Given the description of an element on the screen output the (x, y) to click on. 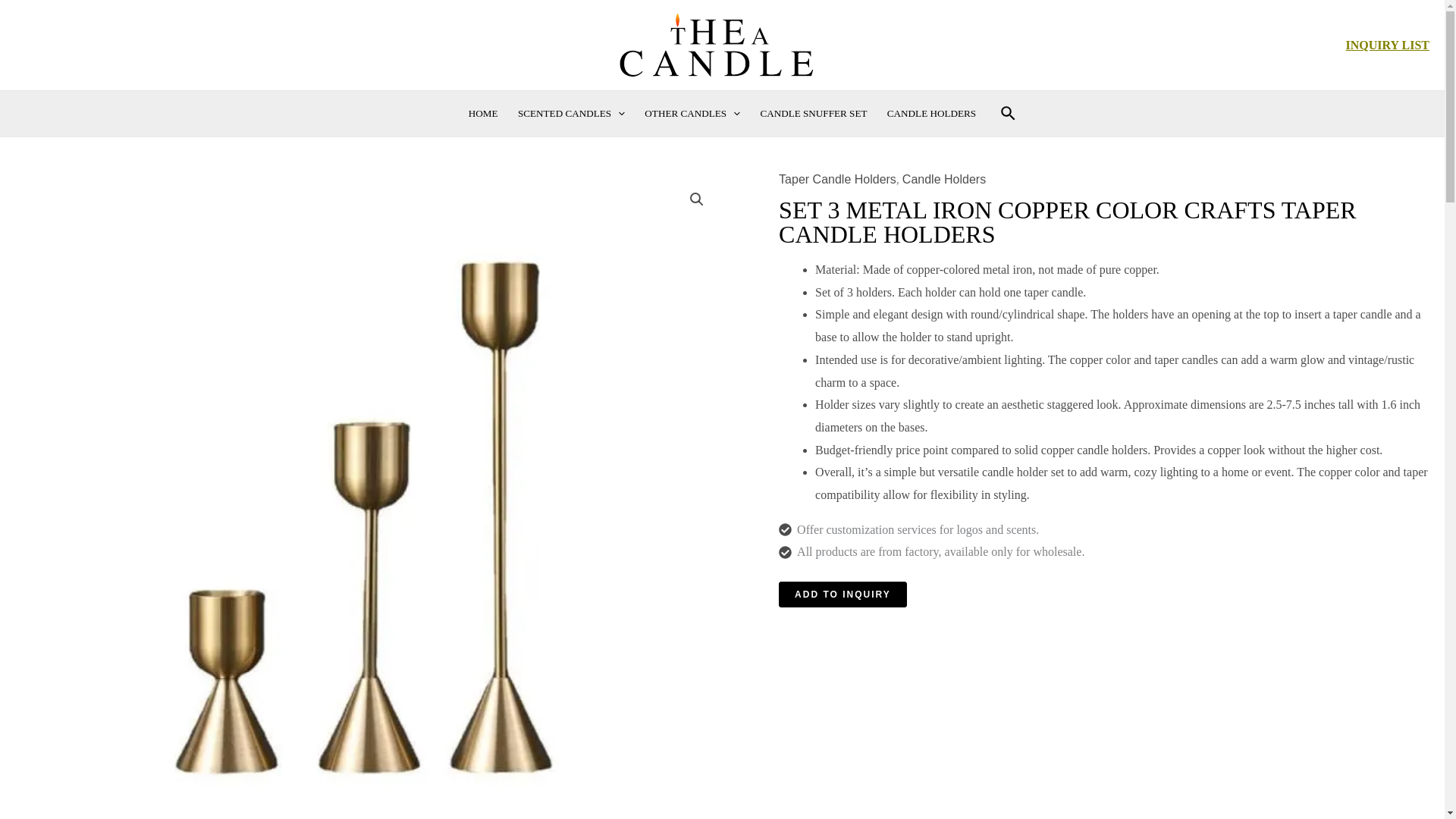
OTHER CANDLES (691, 113)
HOME (483, 113)
SCENTED CANDLES (571, 113)
CANDLE HOLDERS (932, 113)
INQUIRY LIST (1387, 44)
CANDLE SNUFFER SET (812, 113)
